Given the description of an element on the screen output the (x, y) to click on. 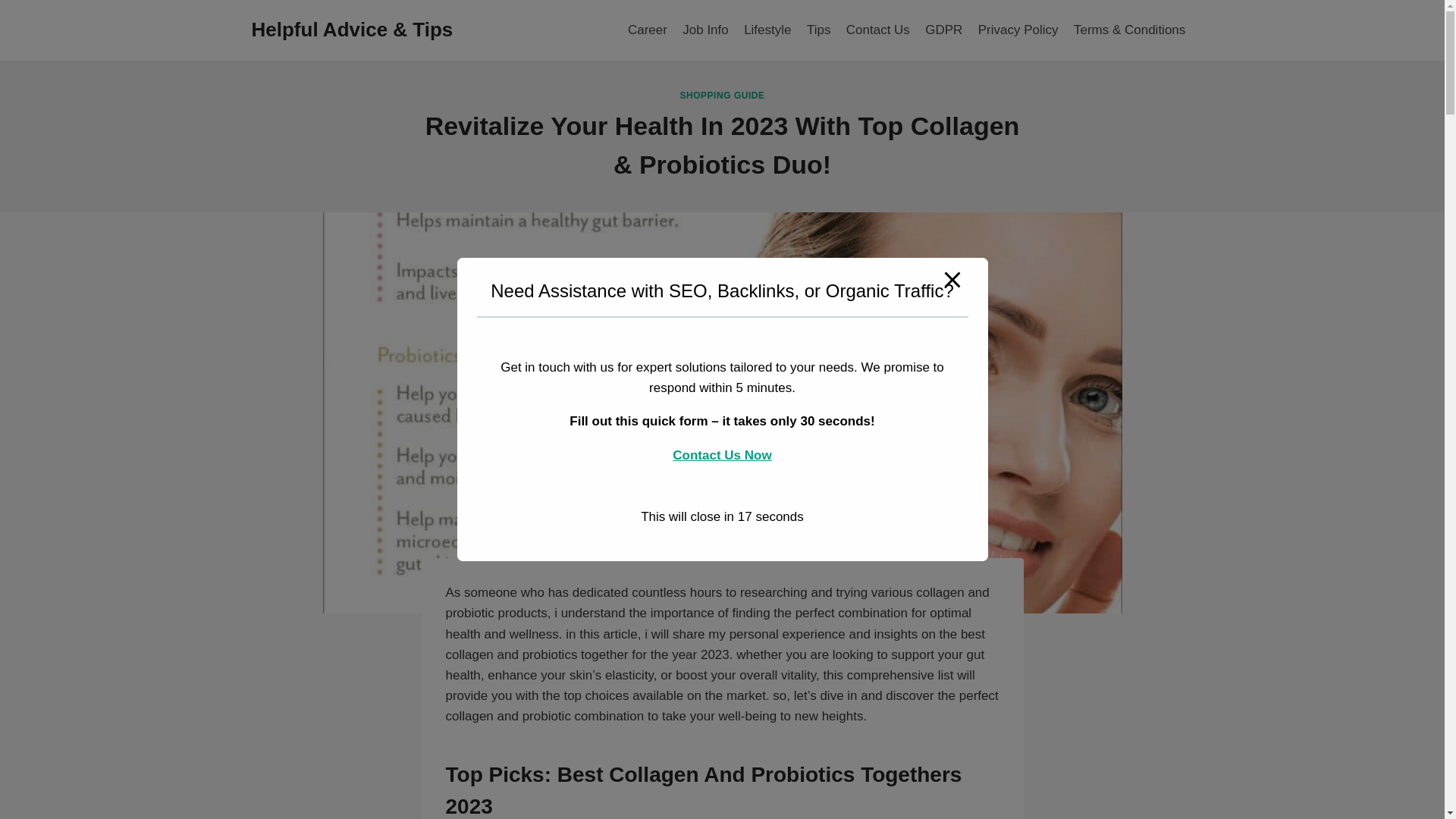
Lifestyle (767, 30)
Contact Us (877, 30)
Tips (818, 30)
GDPR (944, 30)
Privacy Policy (1018, 30)
SHOPPING GUIDE (721, 94)
Career (647, 30)
Job Info (705, 30)
